Given the description of an element on the screen output the (x, y) to click on. 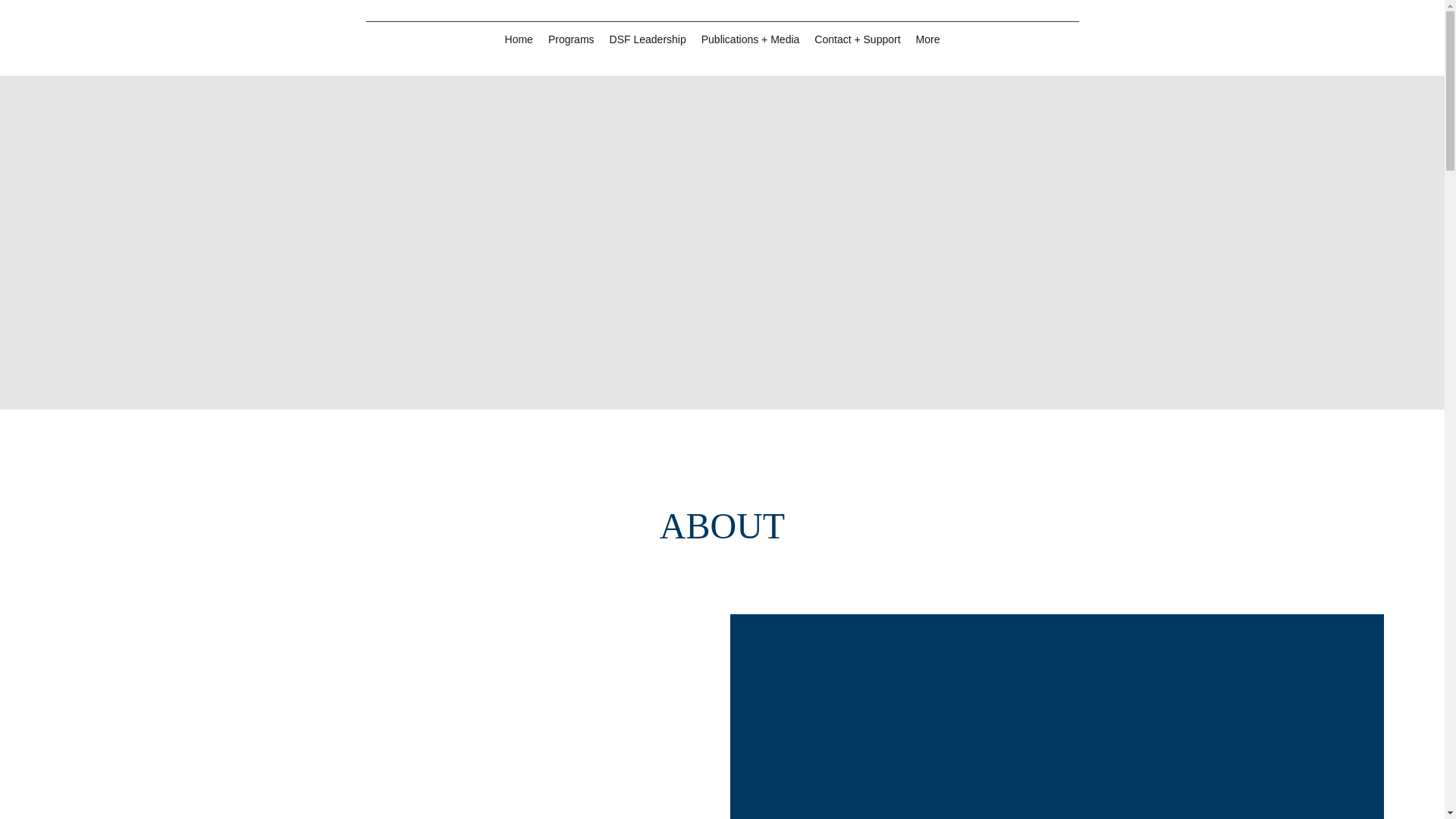
Programs (571, 41)
DSF Leadership (648, 41)
Home (518, 41)
